Given the description of an element on the screen output the (x, y) to click on. 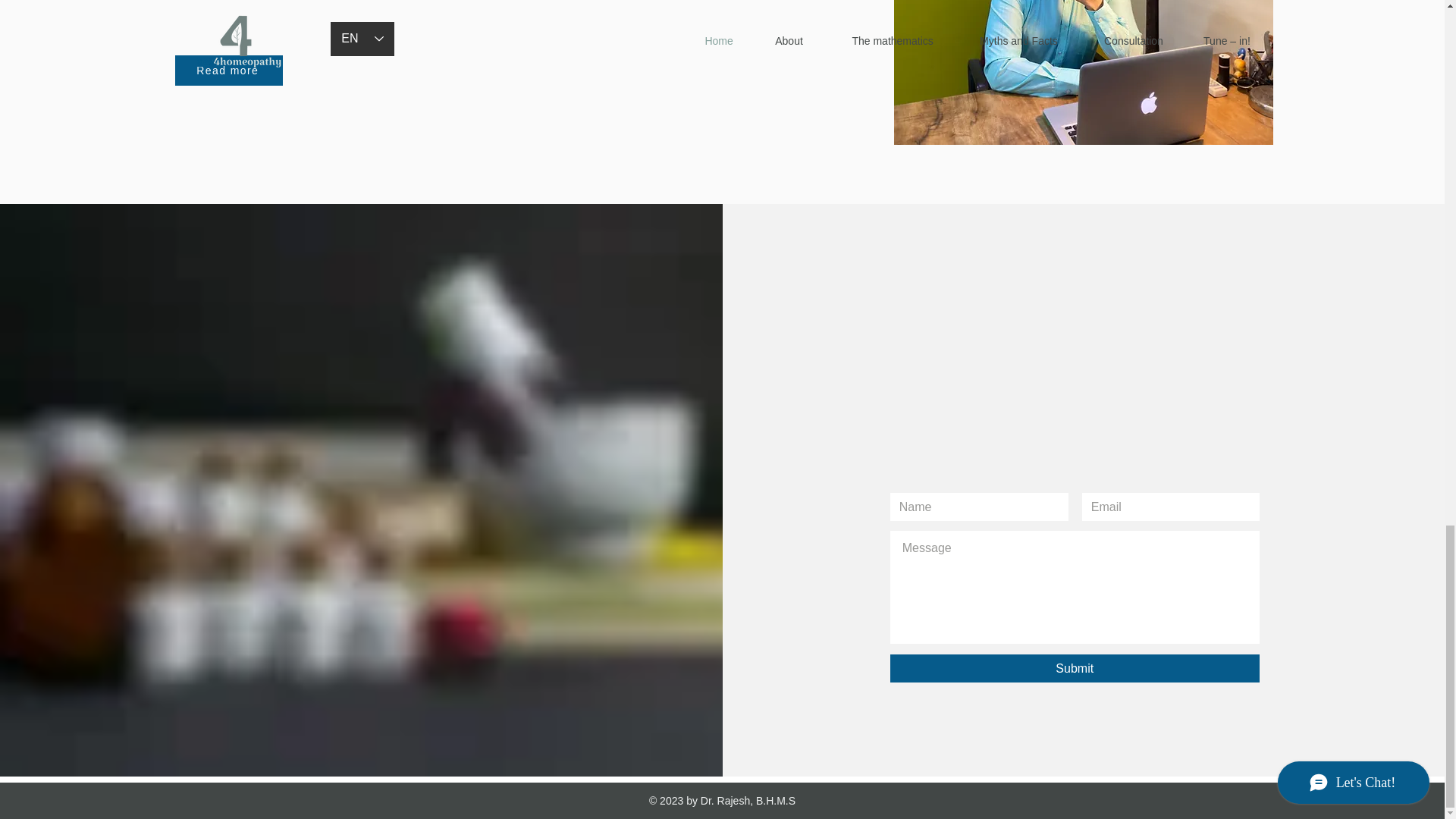
Read more (228, 70)
Man with Bun (1082, 72)
Submit (1074, 668)
